Given the description of an element on the screen output the (x, y) to click on. 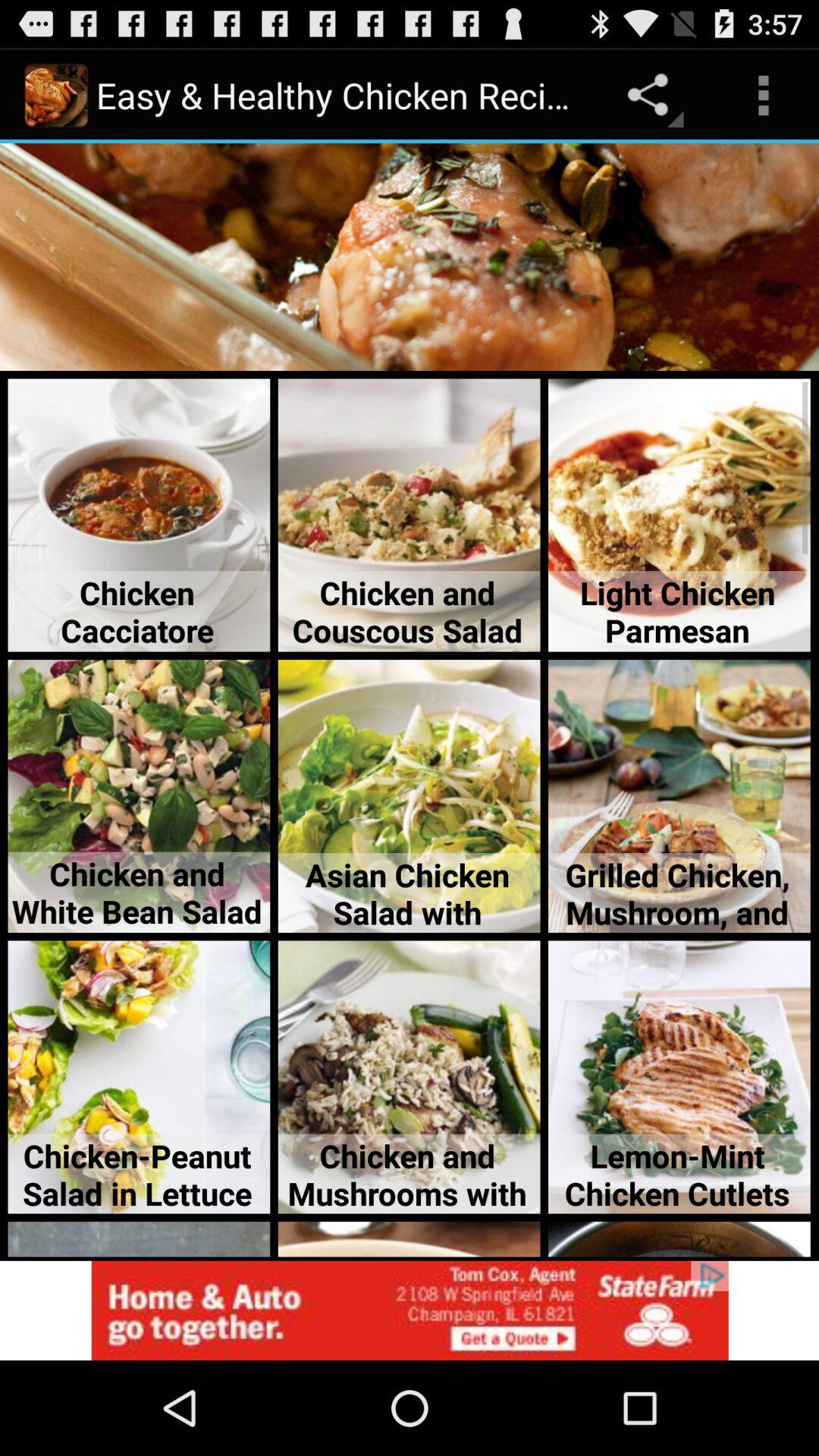
access advertising (409, 1310)
